Given the description of an element on the screen output the (x, y) to click on. 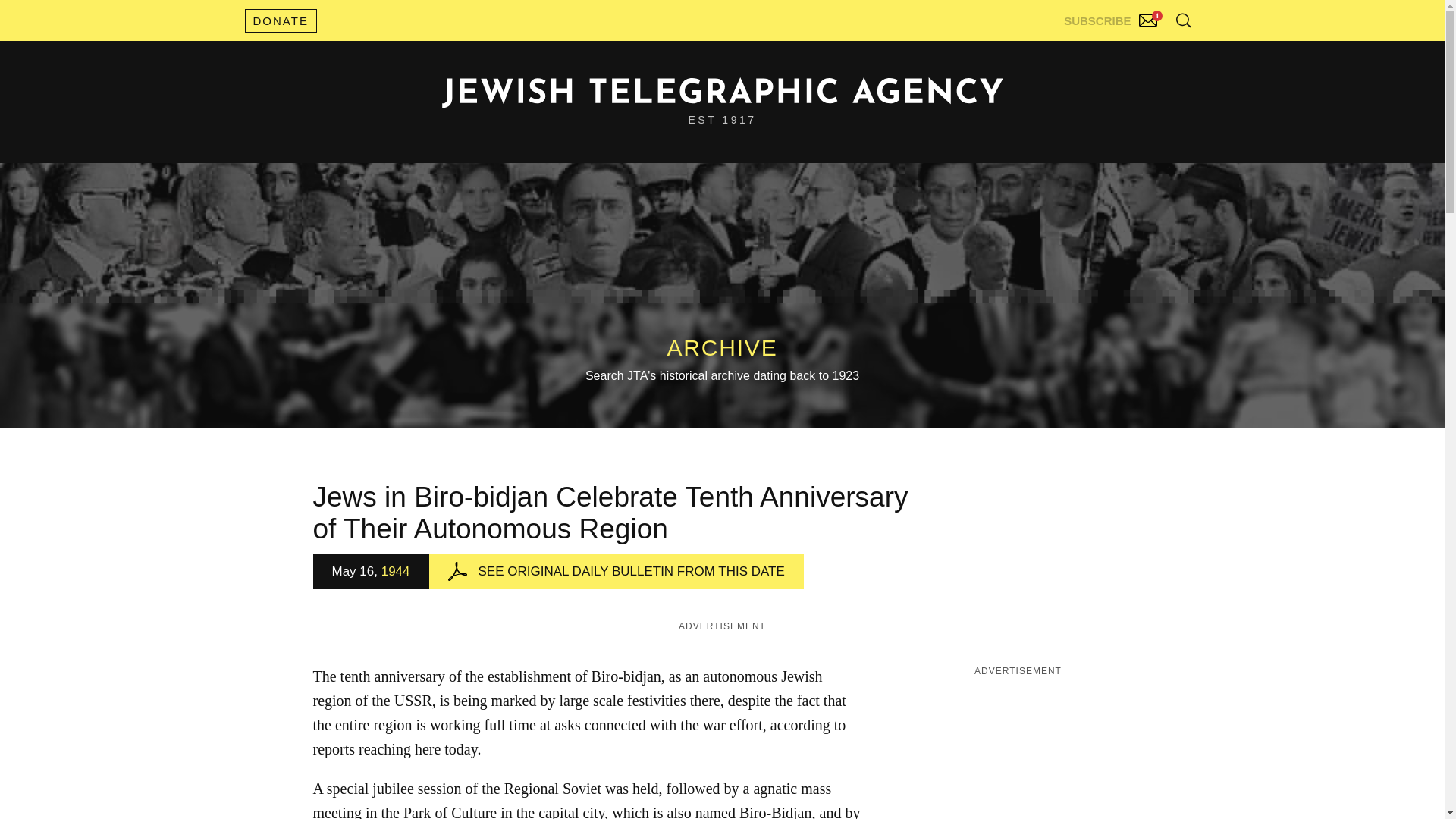
Search (1144, 53)
SEARCH TOGGLESEARCH TOGGLE (1182, 20)
SUBSCRIBE (1112, 17)
DONATE (279, 20)
